Given the description of an element on the screen output the (x, y) to click on. 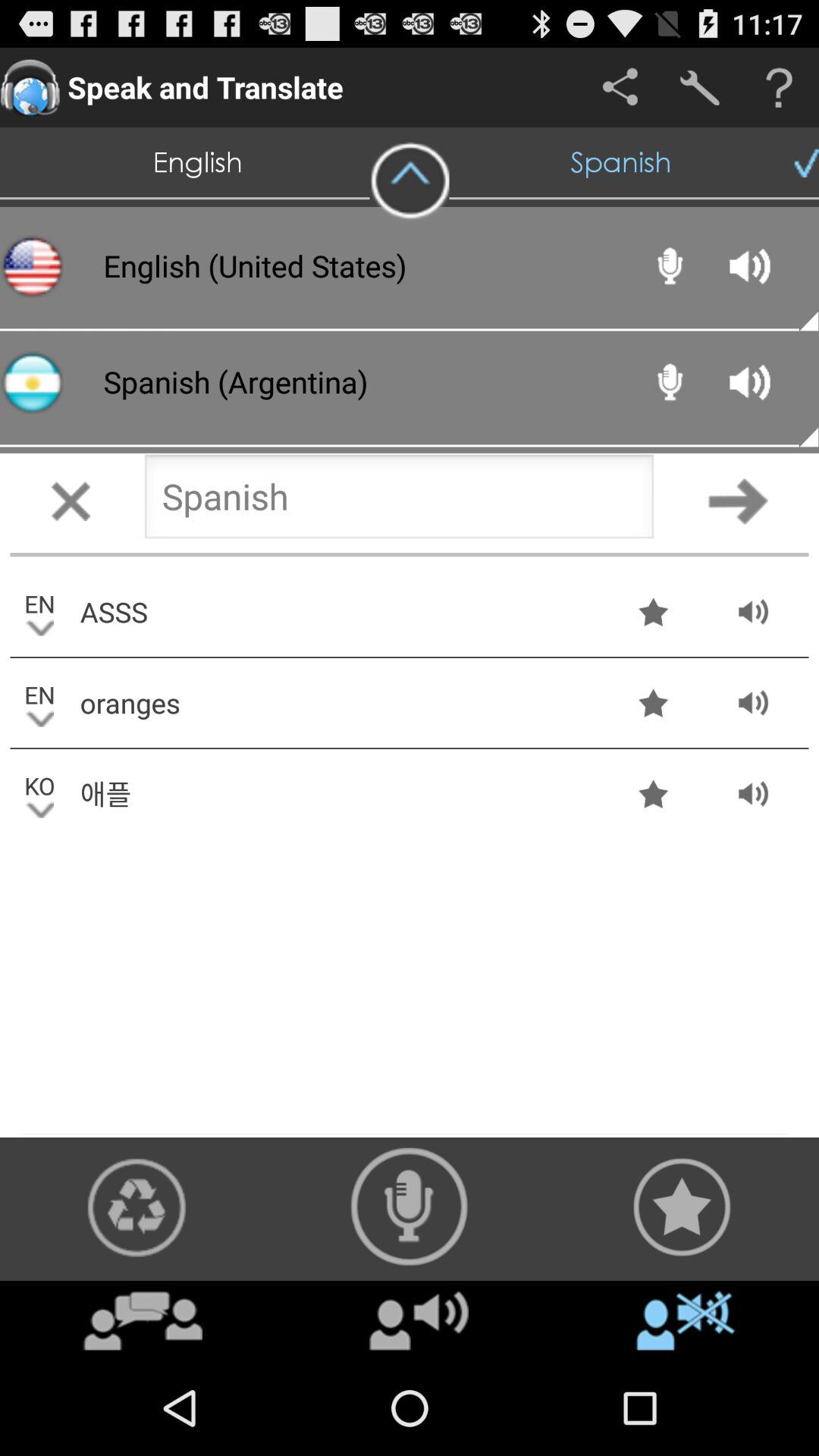
scroll to item (685, 1320)
